Given the description of an element on the screen output the (x, y) to click on. 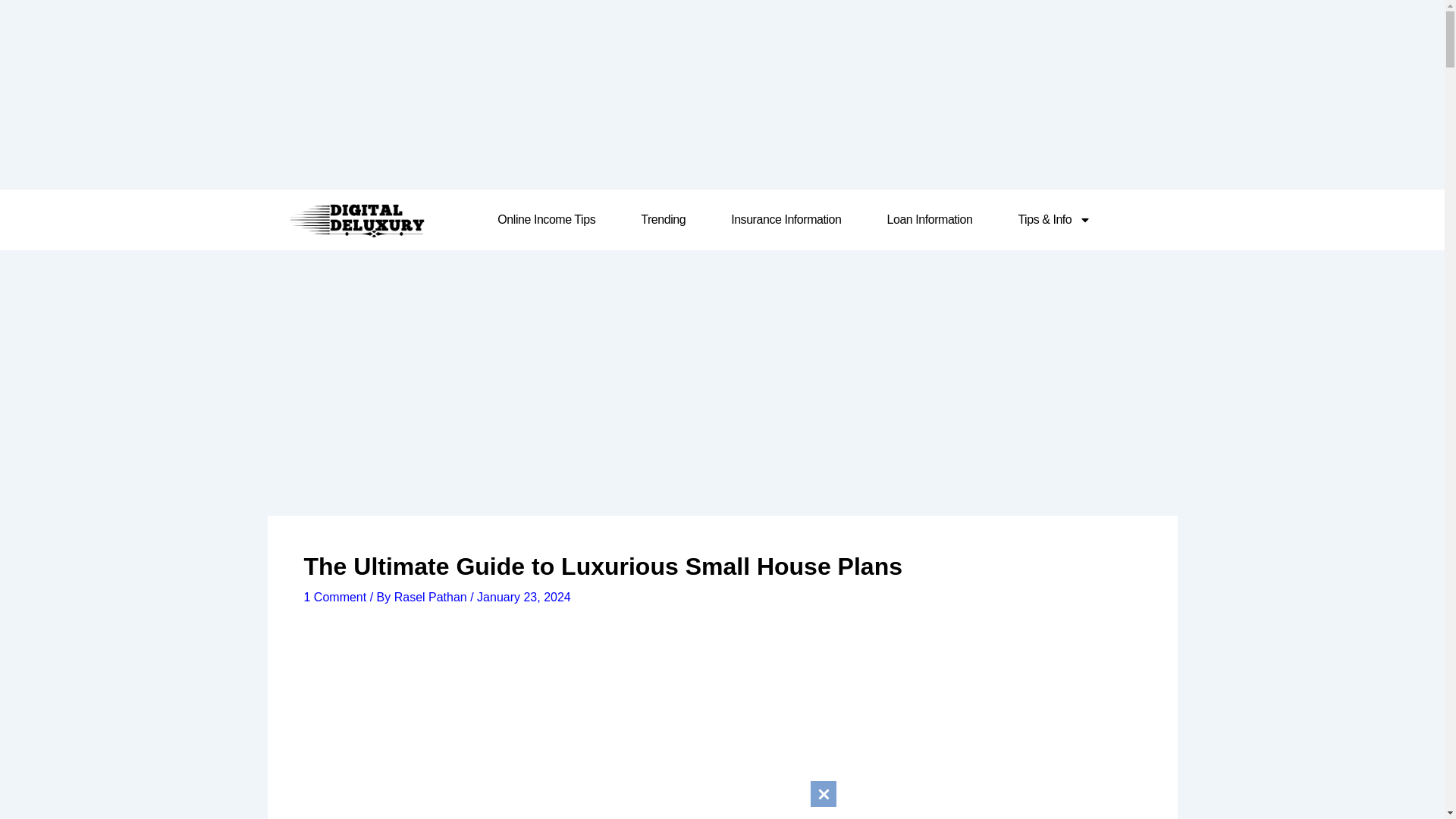
View all posts by Rasel Pathan (432, 596)
Loan Information (929, 219)
Rasel Pathan (432, 596)
Trending (663, 219)
1 Comment (334, 596)
Online Income Tips (545, 219)
Insurance Information (785, 219)
